Given the description of an element on the screen output the (x, y) to click on. 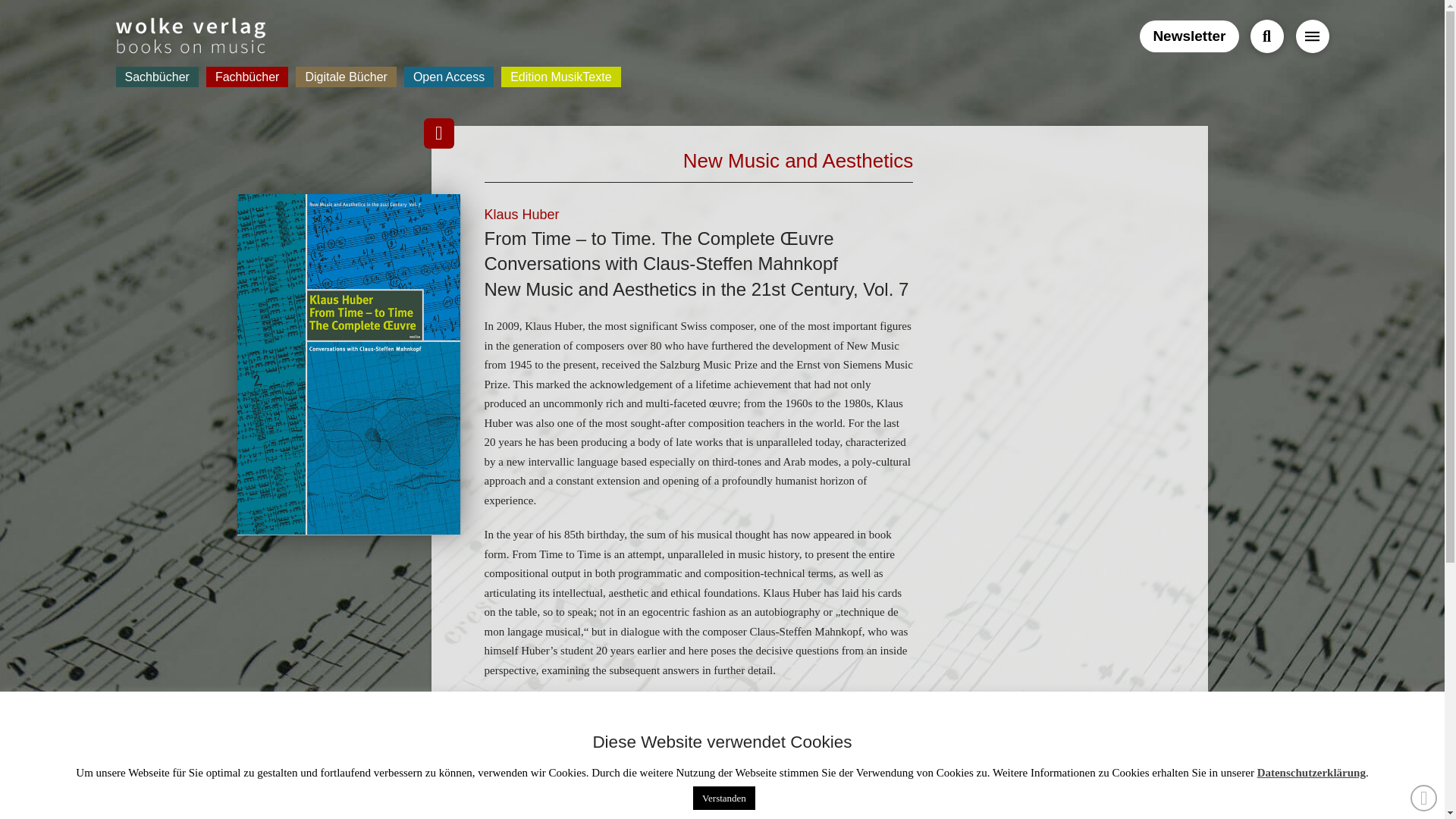
Edition MusikTexte (560, 76)
Back to Top (1423, 797)
Newsletter (1189, 36)
Open Access (448, 76)
